Given the description of an element on the screen output the (x, y) to click on. 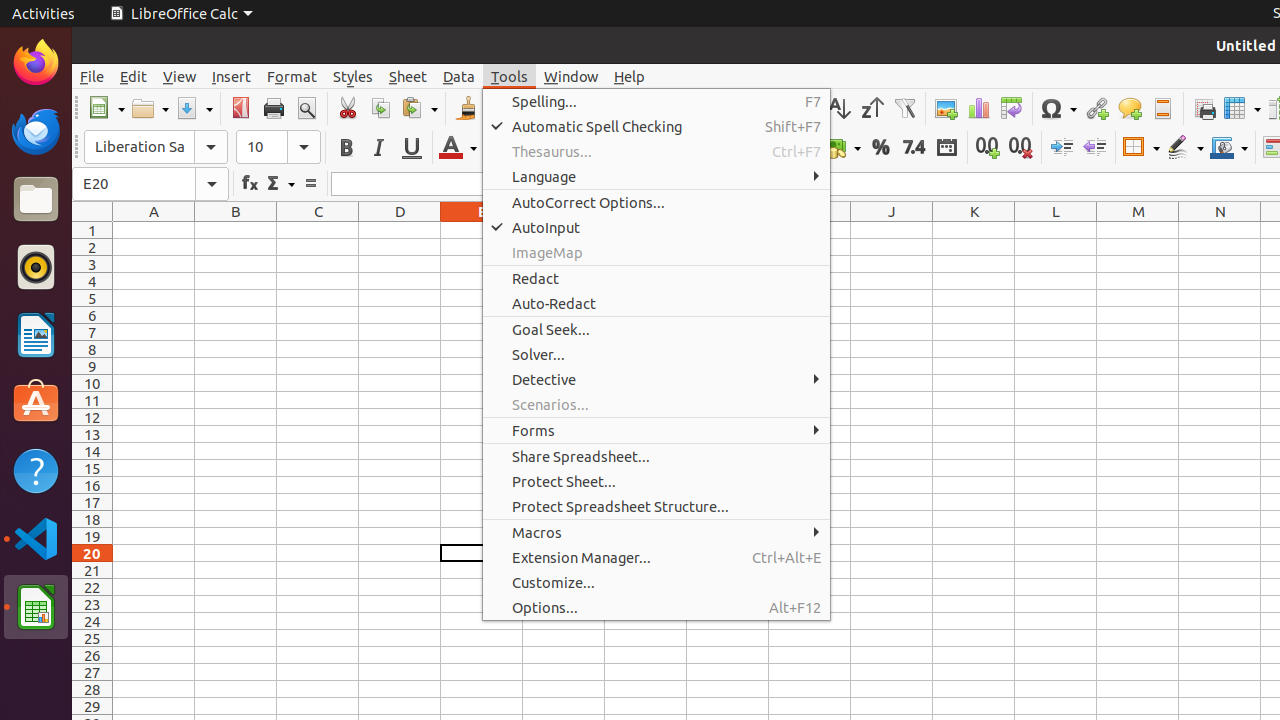
Font Size Element type: combo-box (278, 147)
Font Color Element type: push-button (458, 147)
Number Element type: push-button (913, 147)
Cut Element type: push-button (347, 108)
Insert Element type: menu (231, 76)
